Given the description of an element on the screen output the (x, y) to click on. 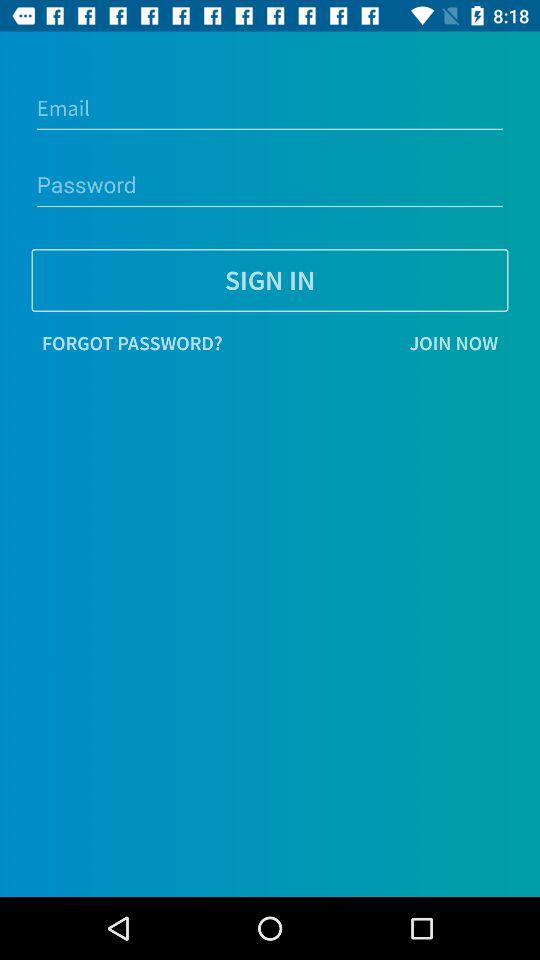
open join now (370, 343)
